Given the description of an element on the screen output the (x, y) to click on. 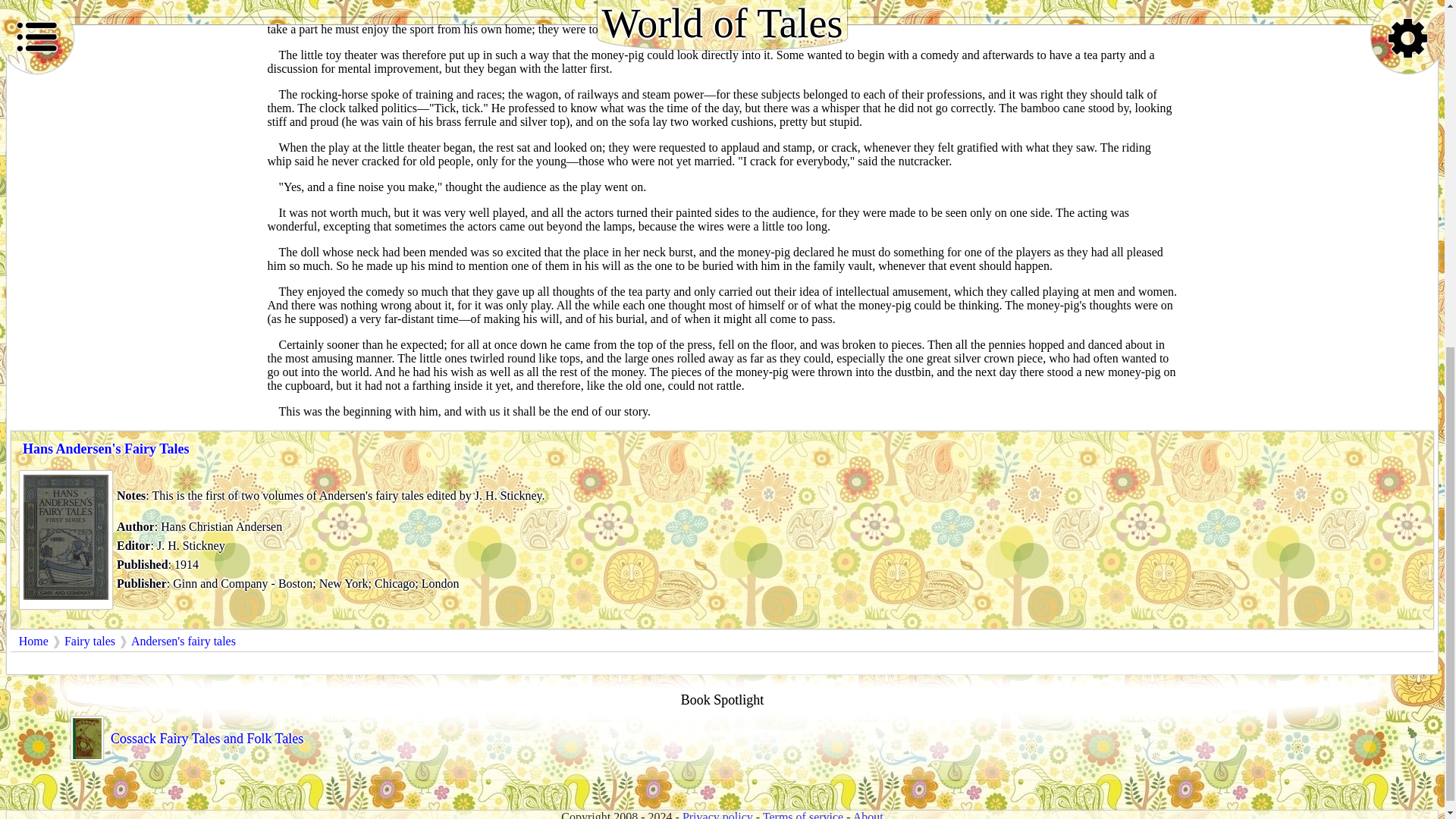
Fairy tales (89, 641)
Andersen's fairy tales (183, 641)
Home (33, 641)
